Given the description of an element on the screen output the (x, y) to click on. 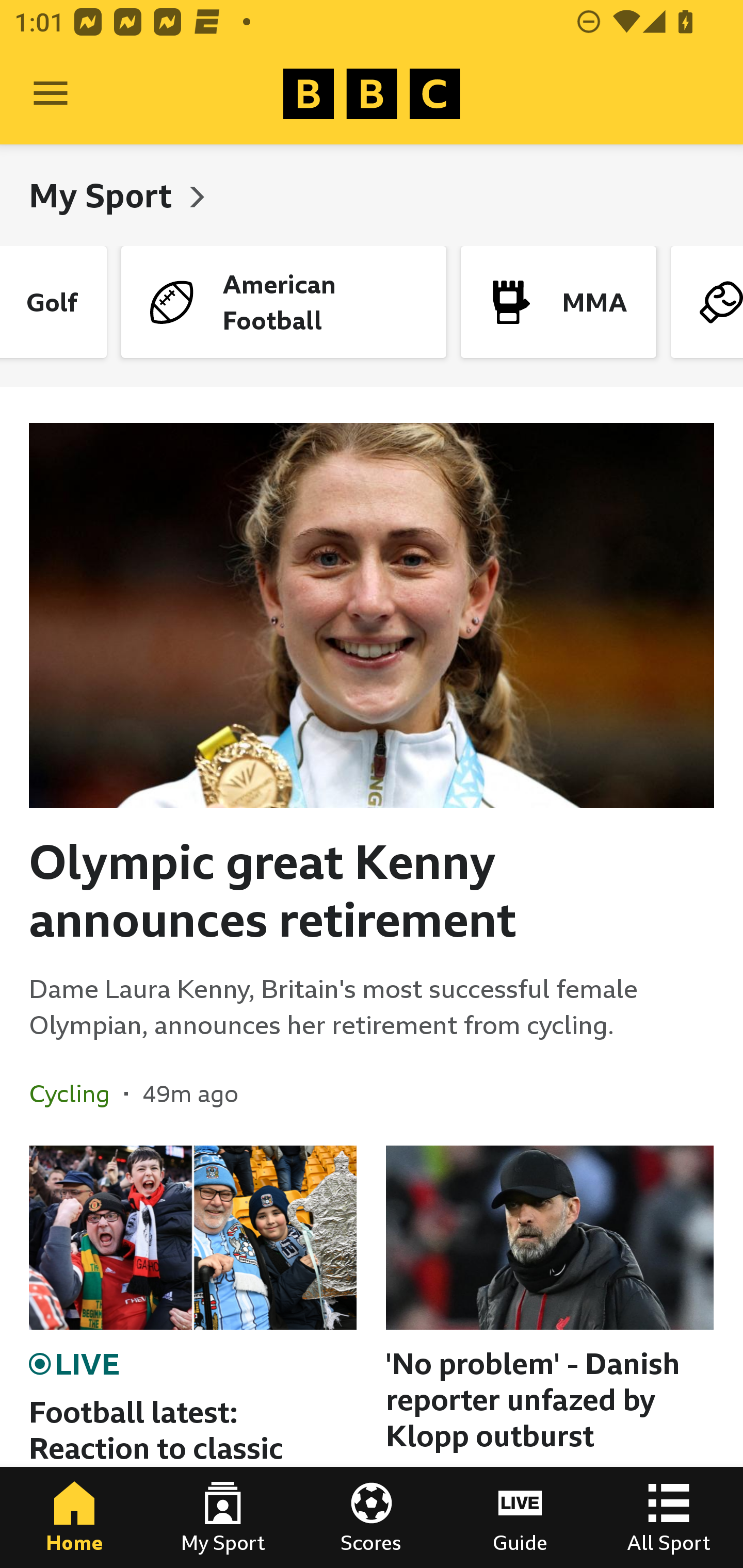
Open Menu (50, 93)
My Sport (104, 195)
Cycling In the section Cycling (76, 1093)
My Sport (222, 1517)
Scores (371, 1517)
Guide (519, 1517)
All Sport (668, 1517)
